Given the description of an element on the screen output the (x, y) to click on. 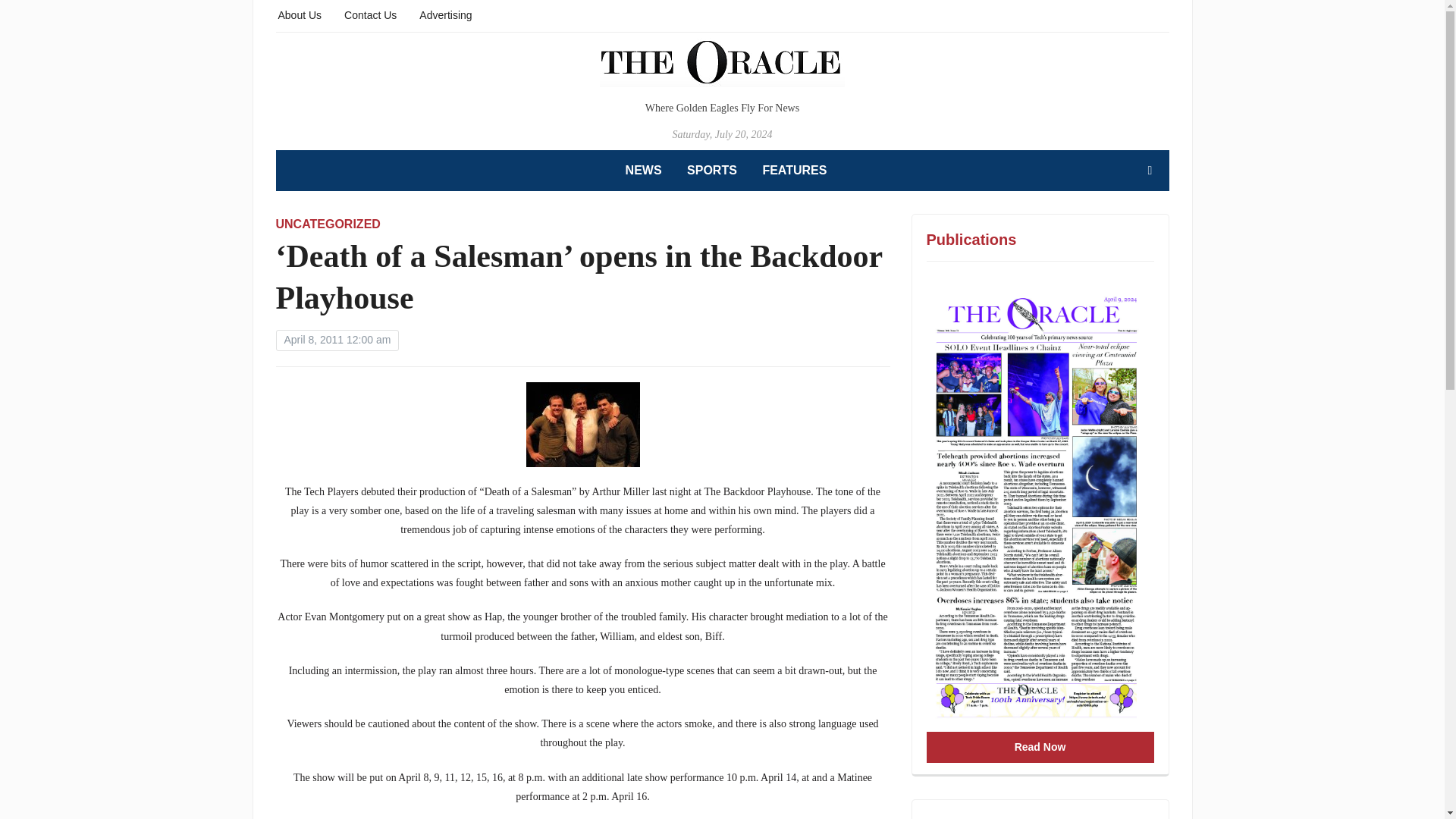
FEATURES (794, 170)
Search (1149, 170)
Read Now (1040, 747)
About Us (299, 14)
SPORTS (711, 170)
UNCATEGORIZED (328, 223)
NEWS (644, 170)
Advertising (445, 14)
Contact Us (369, 14)
